Given the description of an element on the screen output the (x, y) to click on. 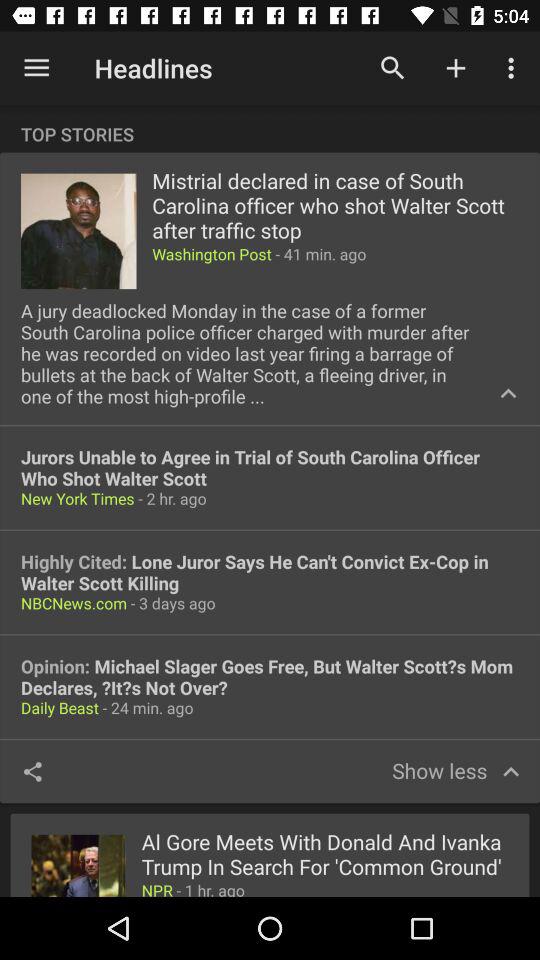
click on the button along with the text show less (455, 771)
click on the text in the option at the bottom of the page (325, 855)
click on the icon at the top right corner of the page (514, 68)
